Given the description of an element on the screen output the (x, y) to click on. 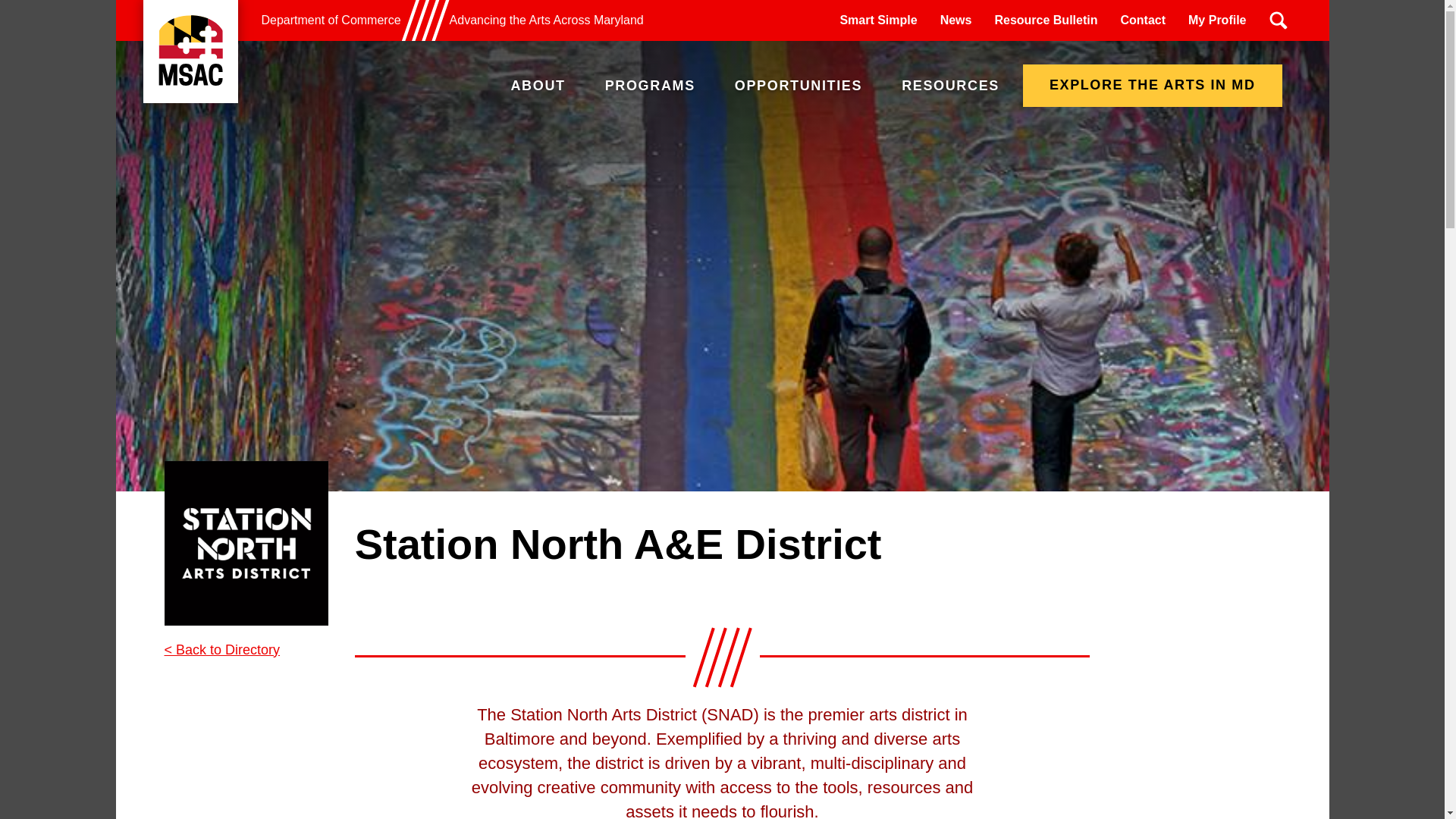
Contact (1142, 19)
PROGRAMS (650, 85)
Smart Simple (878, 19)
OPPORTUNITIES (798, 85)
My Profile (1217, 19)
Contact MSAC Staff (1142, 19)
Search (1277, 20)
About MSAC (537, 85)
Resources (949, 85)
Maryland State Arts Council (189, 51)
Smart Simple Login  (878, 19)
Resource Bulletin (1045, 19)
ABOUT (537, 85)
News (956, 19)
